Given the description of an element on the screen output the (x, y) to click on. 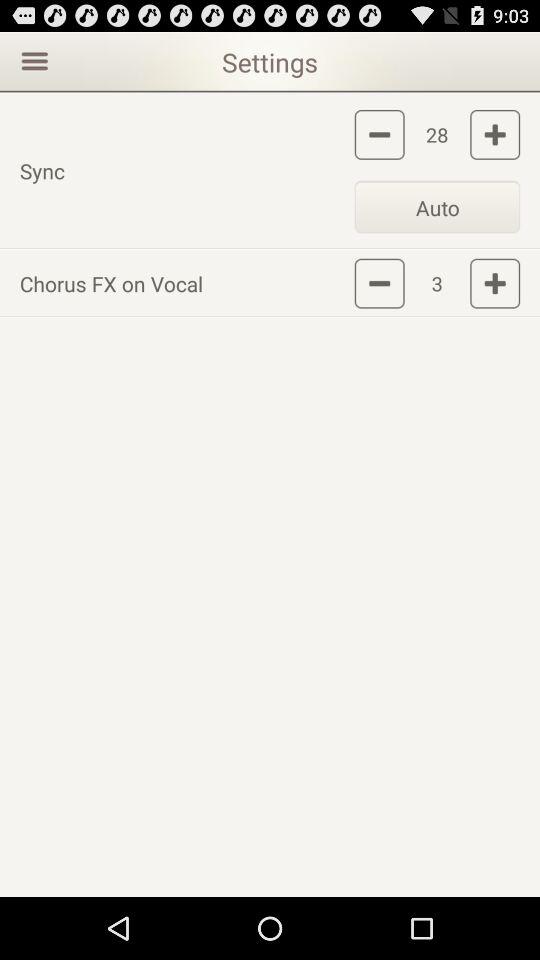
more options (32, 60)
